Given the description of an element on the screen output the (x, y) to click on. 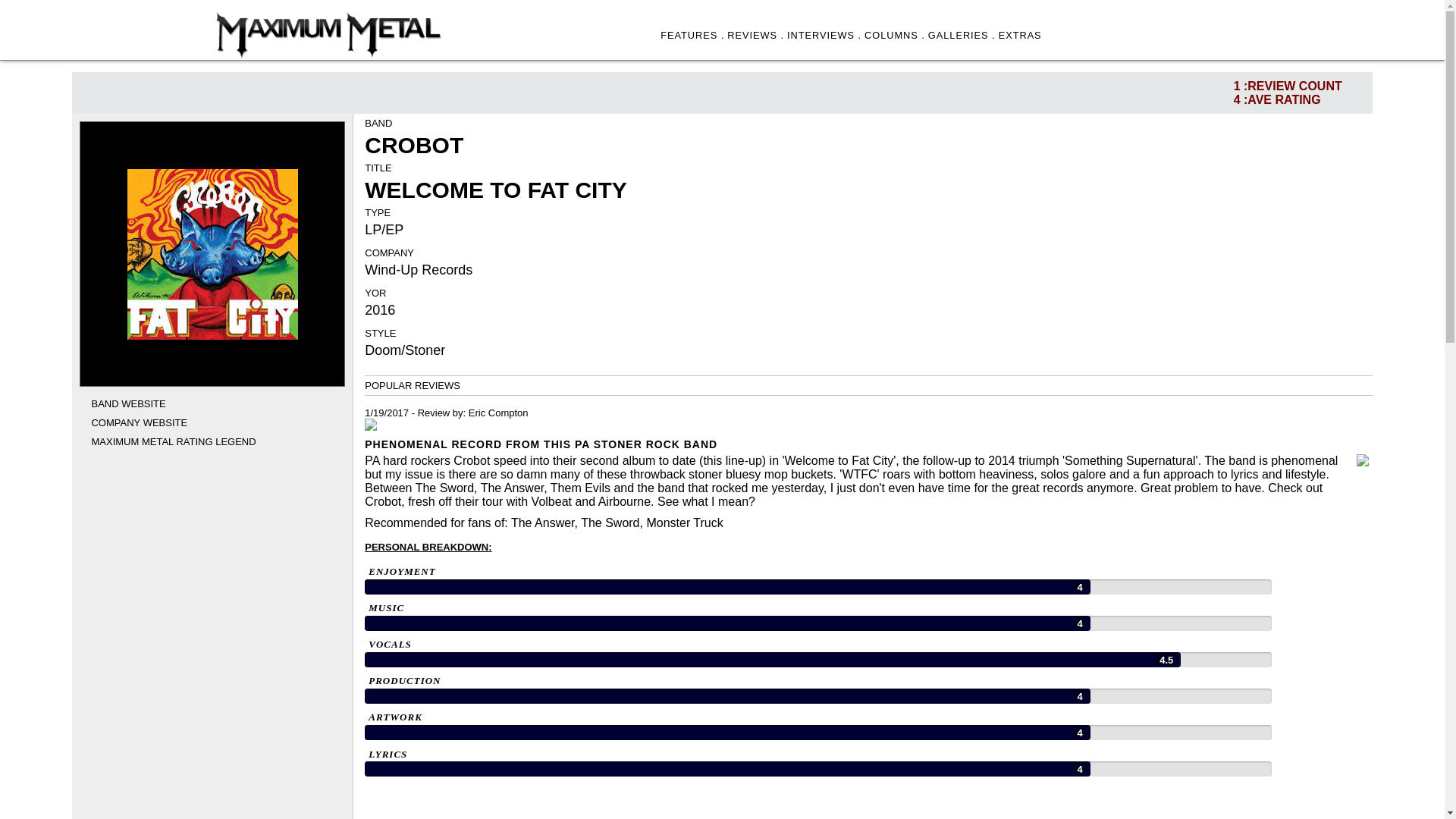
BAND WEBSITE (127, 403)
COLUMNS . (894, 34)
FEATURES . (692, 34)
GALLERIES . (961, 34)
INTERVIEWS . (824, 34)
REVIEWS . (755, 34)
Eric Compton (498, 412)
COMPANY WEBSITE (138, 422)
EXTRAS (1020, 34)
